Given the description of an element on the screen output the (x, y) to click on. 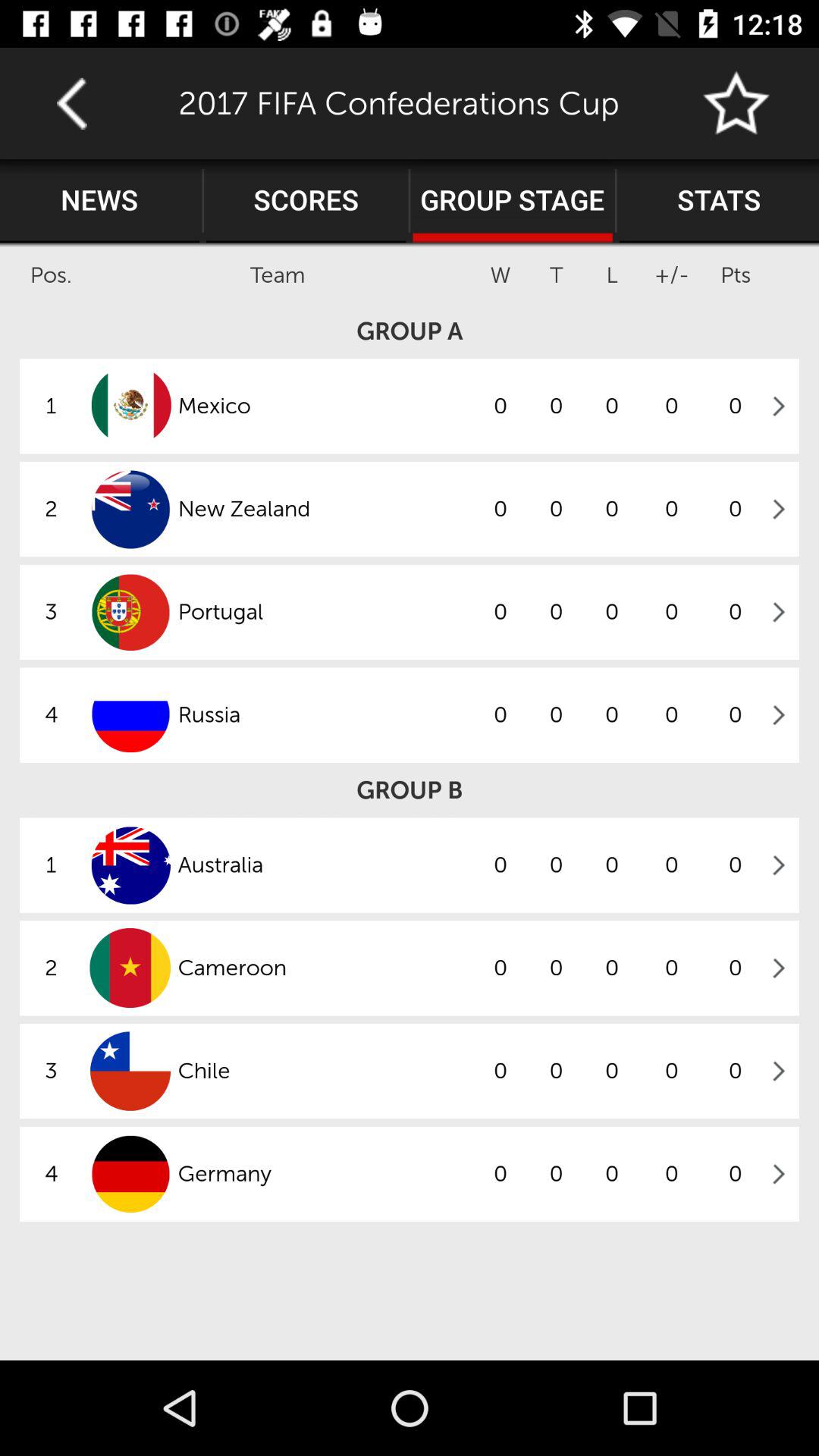
select item next to 0 (325, 967)
